Given the description of an element on the screen output the (x, y) to click on. 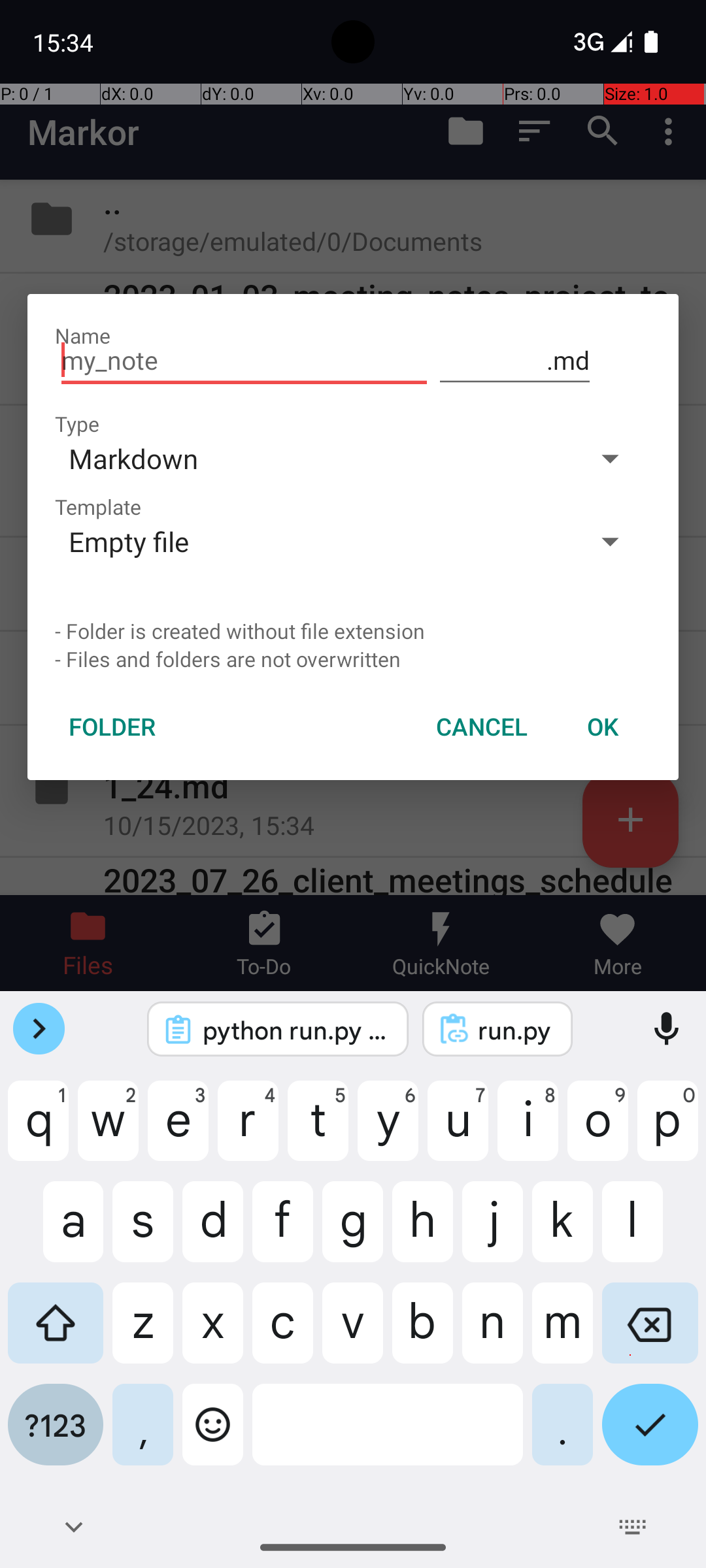
python run.py \   --suite_family=android_world \   --agent_name=t3a_gpt4 \   --perform_emulator_setup \   --tasks=ContactsAddContact,ClockStopWatchRunning \  # Optional: Just run on a subset. Element type: android.widget.TextView (294, 1029)
run.py Element type: android.widget.TextView (514, 1029)
